Given the description of an element on the screen output the (x, y) to click on. 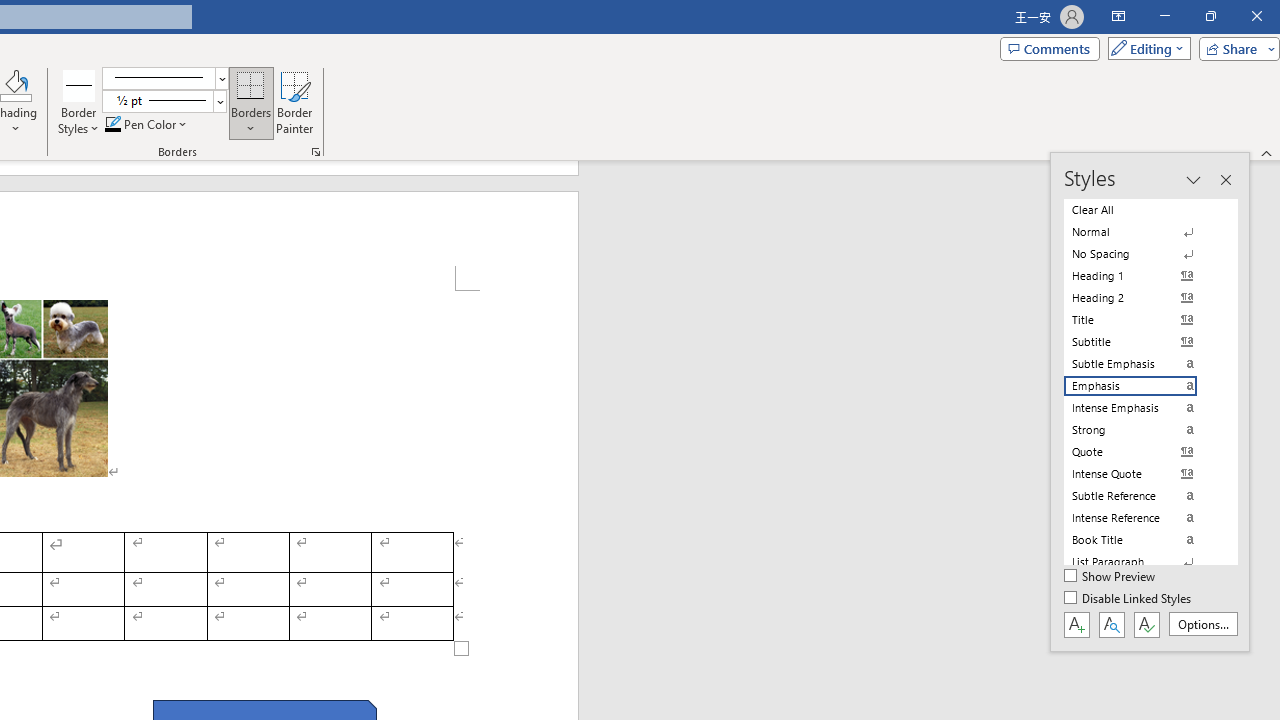
Intense Emphasis (1142, 407)
